Given the description of an element on the screen output the (x, y) to click on. 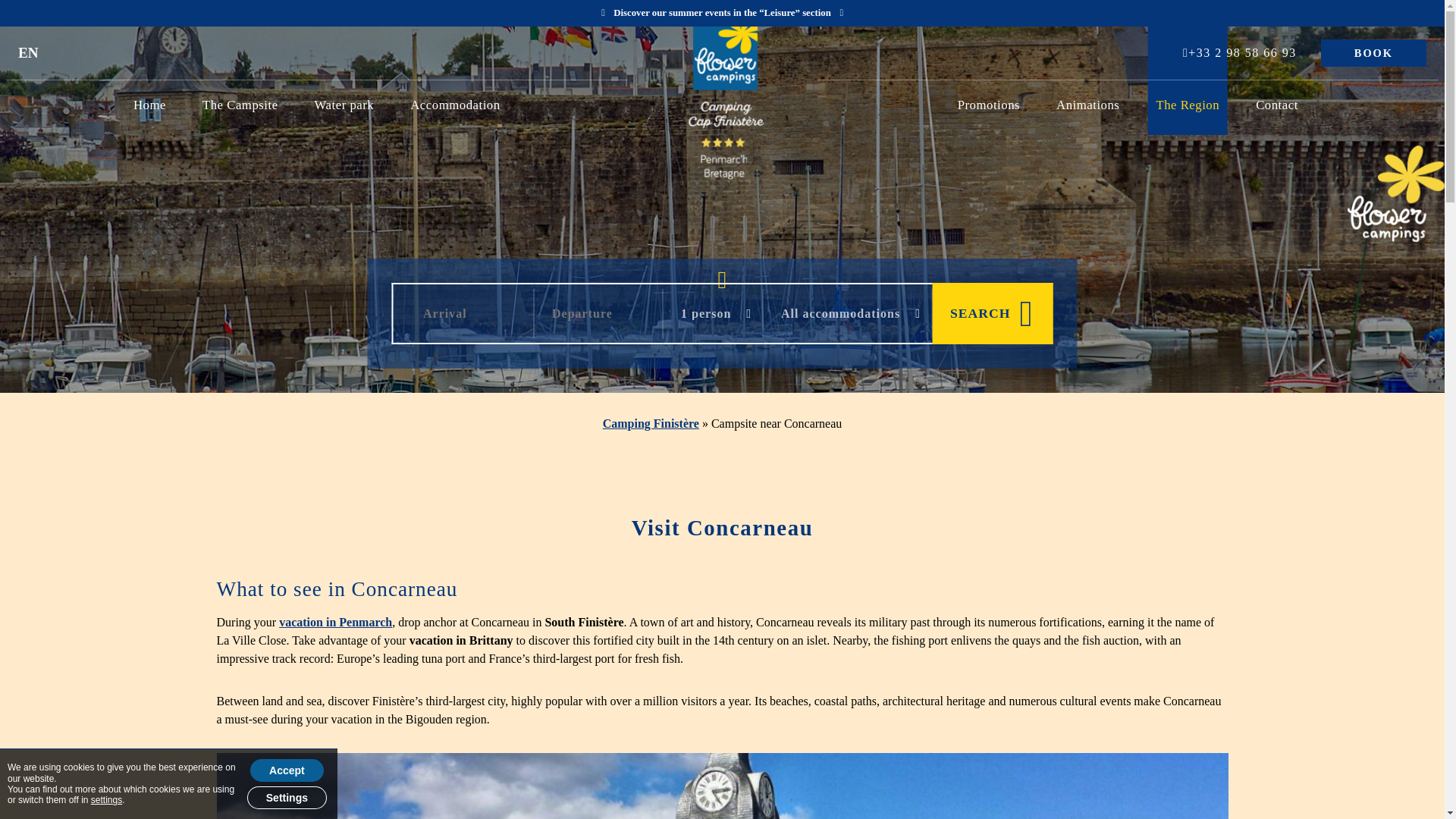
Promotions (989, 104)
The Campsite (239, 104)
BOOK (1373, 53)
The Region (1187, 104)
Contact (1276, 104)
Water park (344, 104)
Animations (1087, 104)
Home (149, 104)
Accommodation (454, 104)
